Given the description of an element on the screen output the (x, y) to click on. 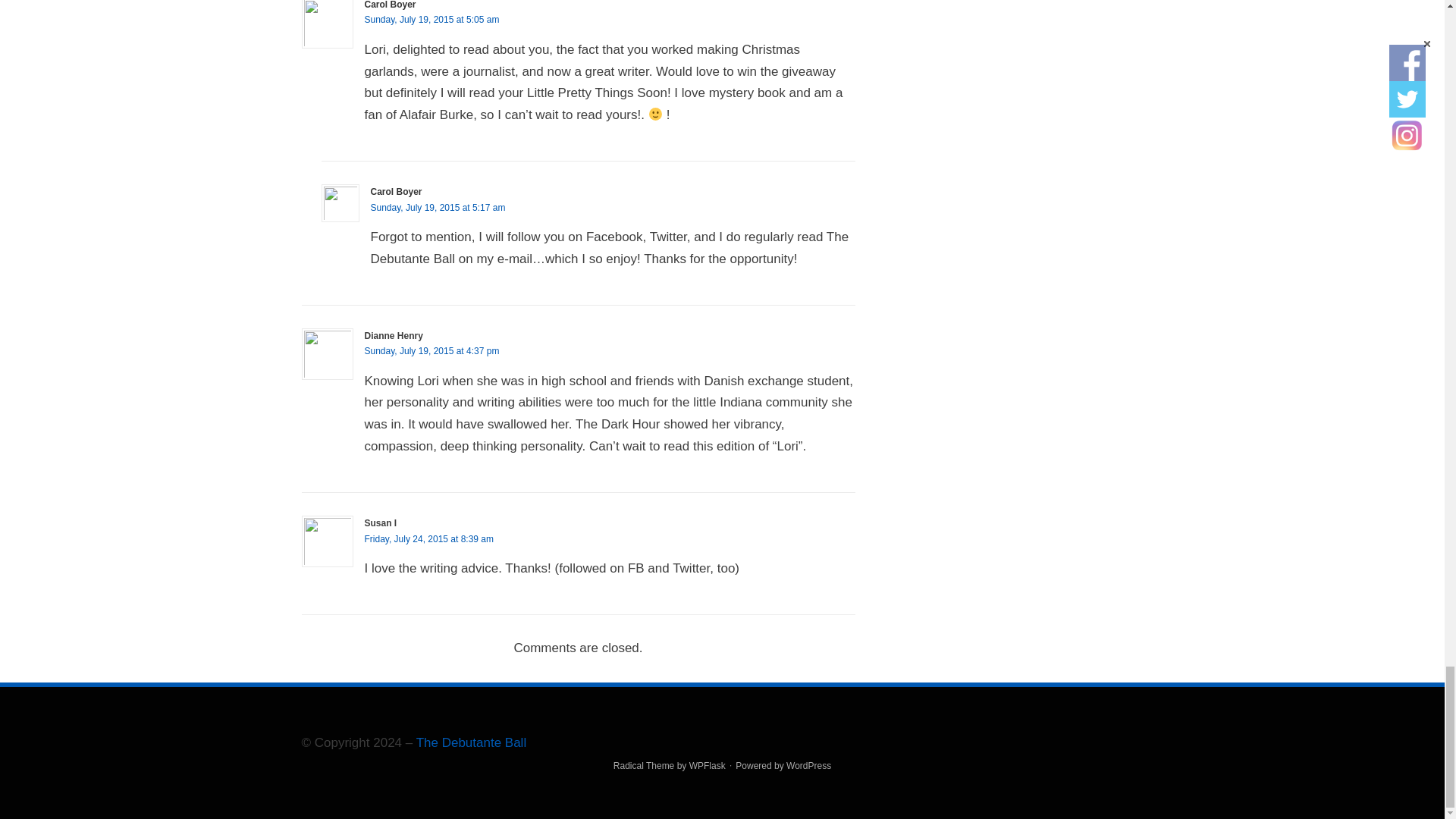
Carol Boyer (395, 191)
Sunday, July 19, 2015 at 5:17 am (437, 207)
WordPress (808, 765)
Carol Boyer (389, 4)
WPFlask (706, 765)
Sunday, July 19, 2015 at 5:05 am (431, 19)
